Given the description of an element on the screen output the (x, y) to click on. 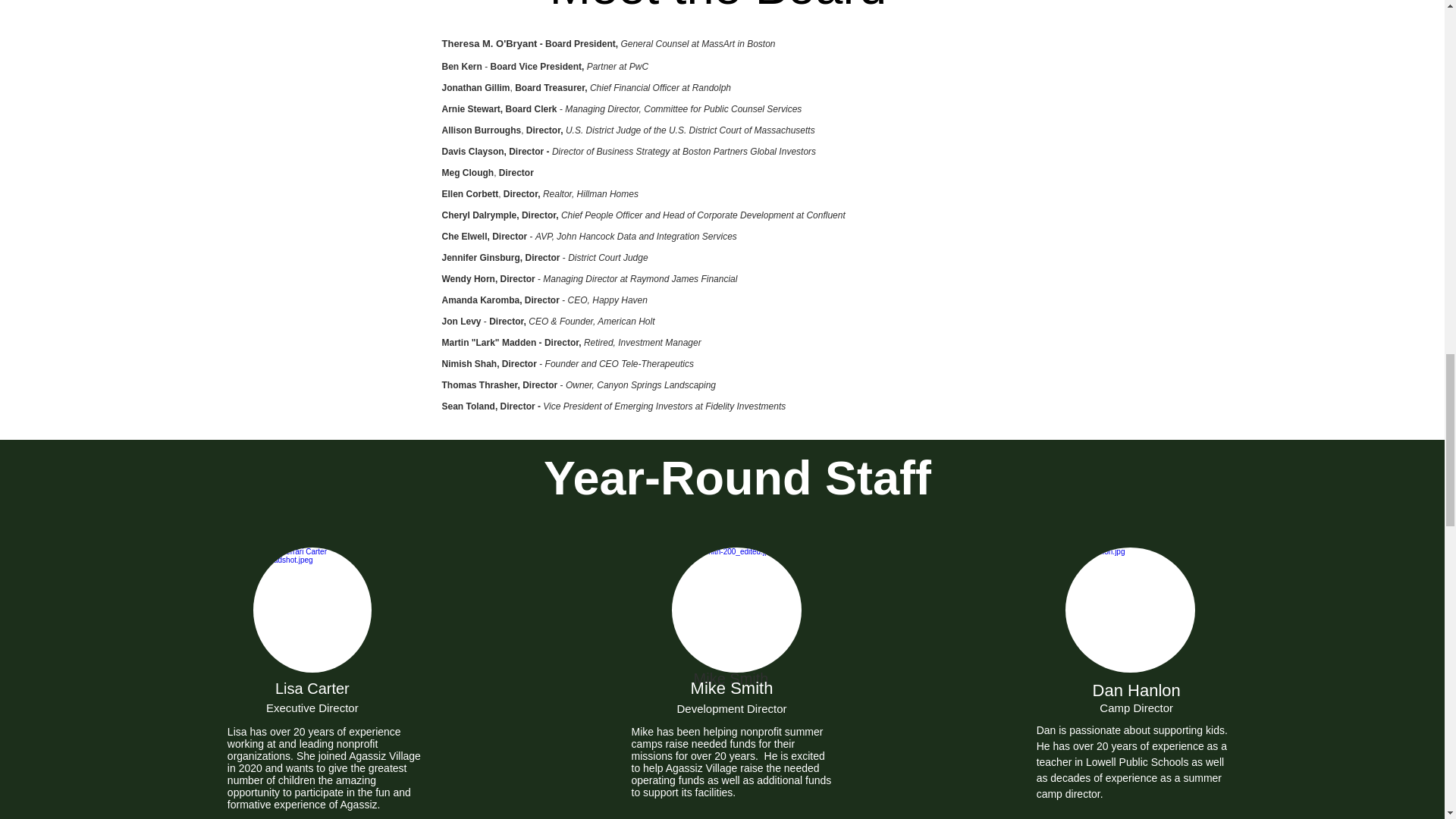
guy3.jpg (736, 609)
guy2.jpg (312, 609)
guy3.jpg (1130, 609)
